Given the description of an element on the screen output the (x, y) to click on. 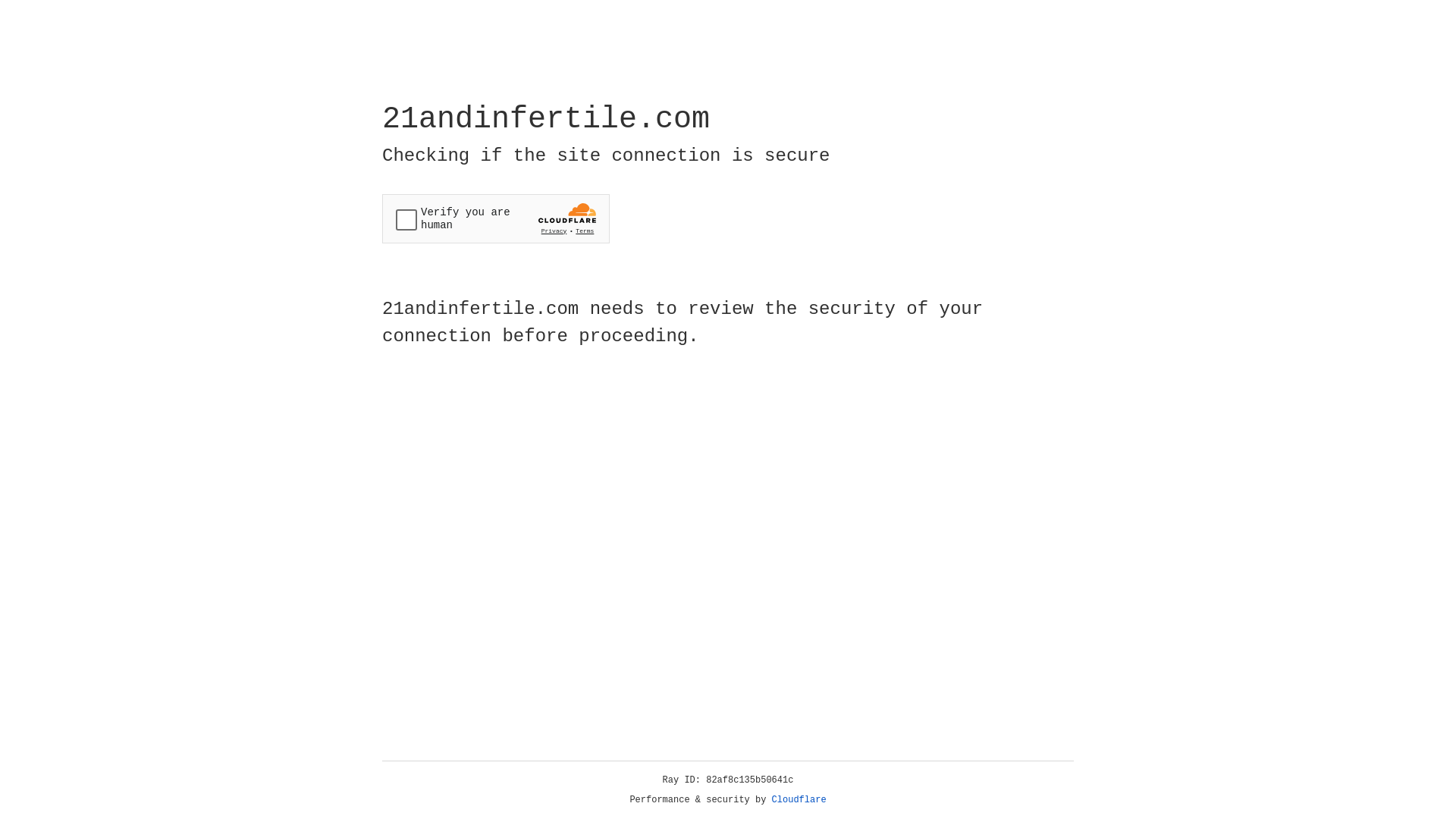
Cloudflare Element type: text (798, 799)
Widget containing a Cloudflare security challenge Element type: hover (495, 218)
